Given the description of an element on the screen output the (x, y) to click on. 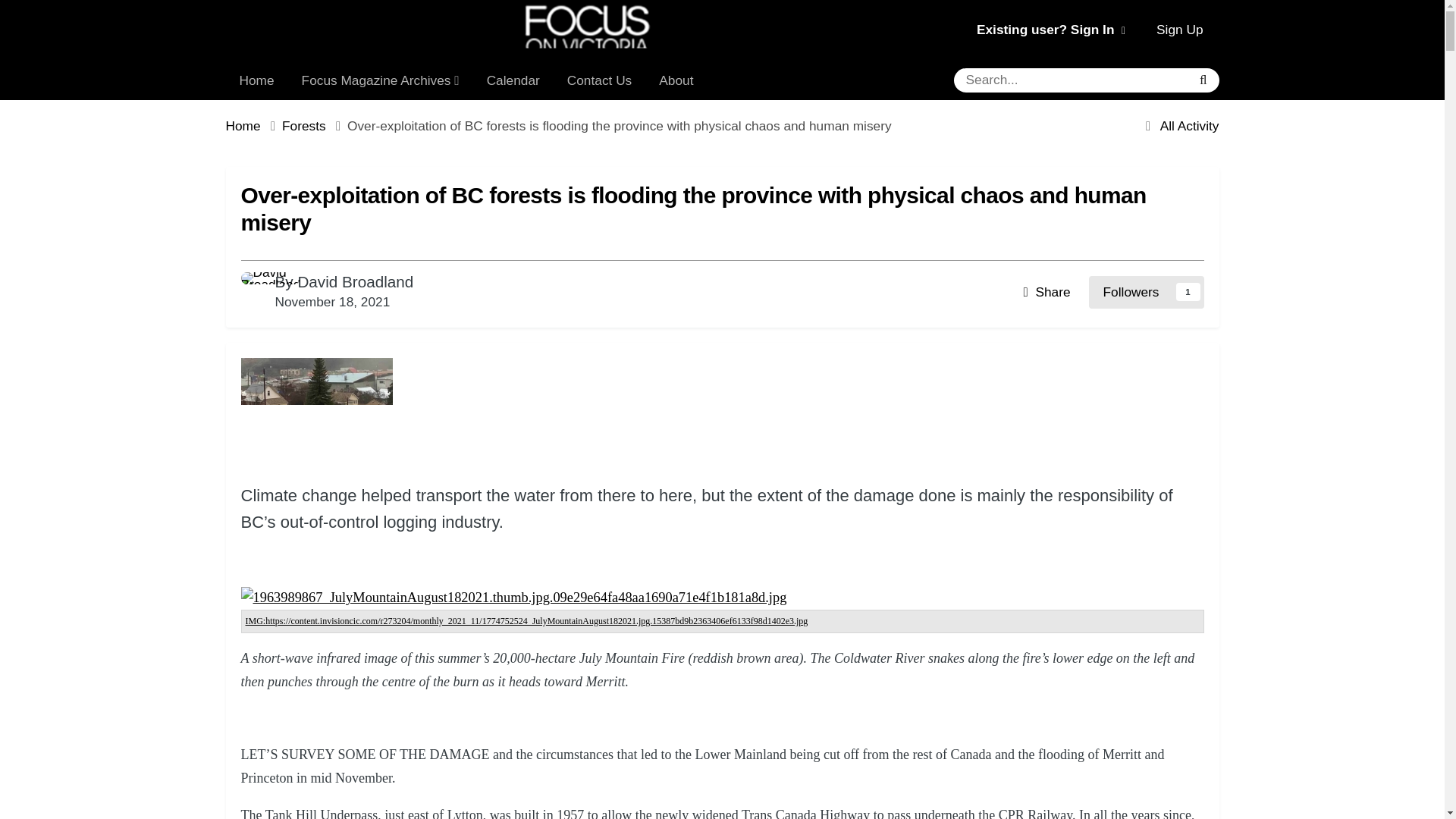
Calendar (513, 79)
Existing user? Sign In   (1050, 29)
Home (253, 126)
Focus Magazine Archives (380, 79)
Contact Us (599, 79)
Go to David Broadland's profile (253, 284)
Home (256, 79)
About (675, 79)
Sign Up (1179, 30)
2021-11-18 08:29  PM (332, 301)
Go to David Broadland's profile (355, 281)
Sign in to follow this (1146, 291)
